Given the description of an element on the screen output the (x, y) to click on. 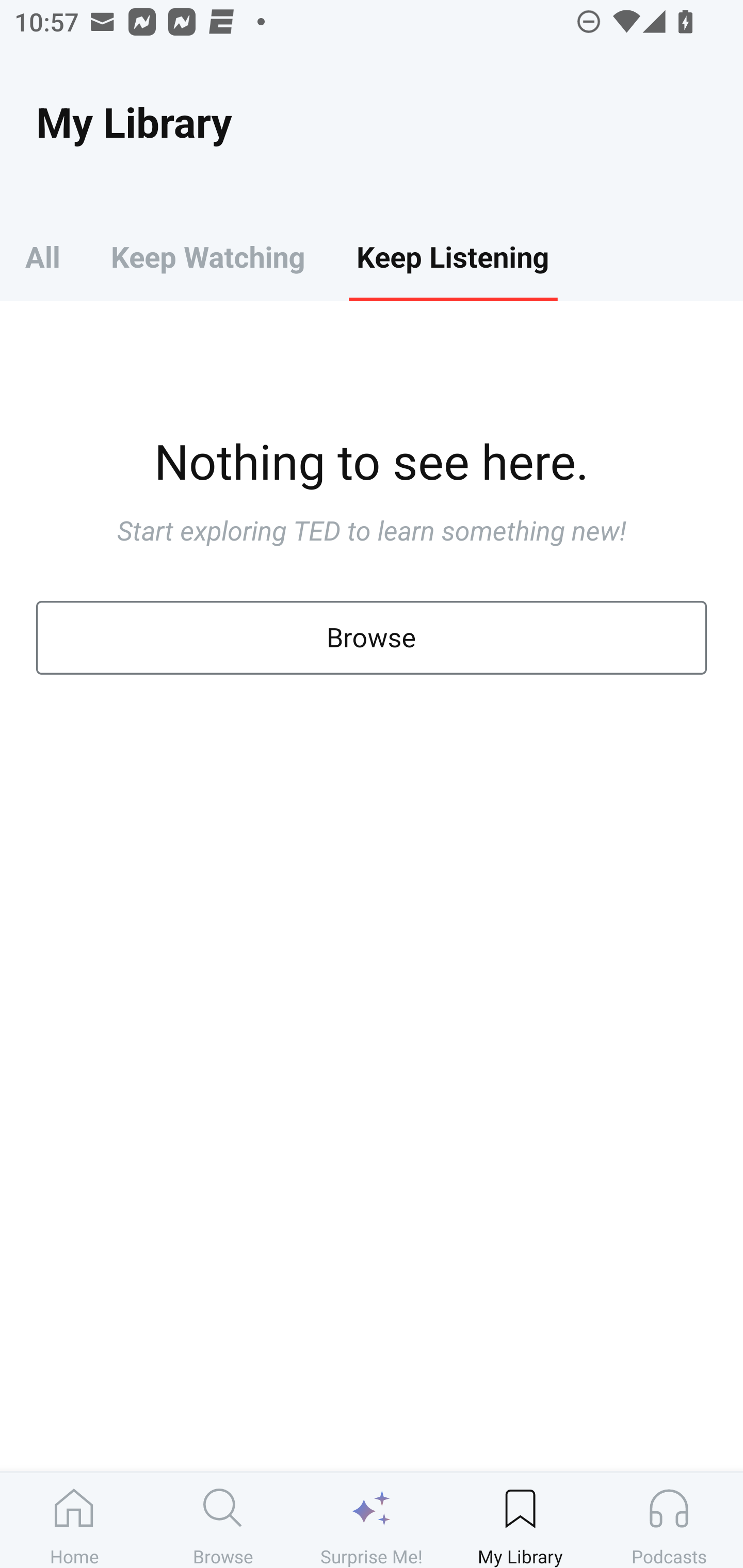
All (42, 256)
Keep Watching (207, 256)
Keep Listening (452, 256)
Browse (371, 637)
Home (74, 1520)
Browse (222, 1520)
Surprise Me! (371, 1520)
My Library (519, 1520)
Podcasts (668, 1520)
